Given the description of an element on the screen output the (x, y) to click on. 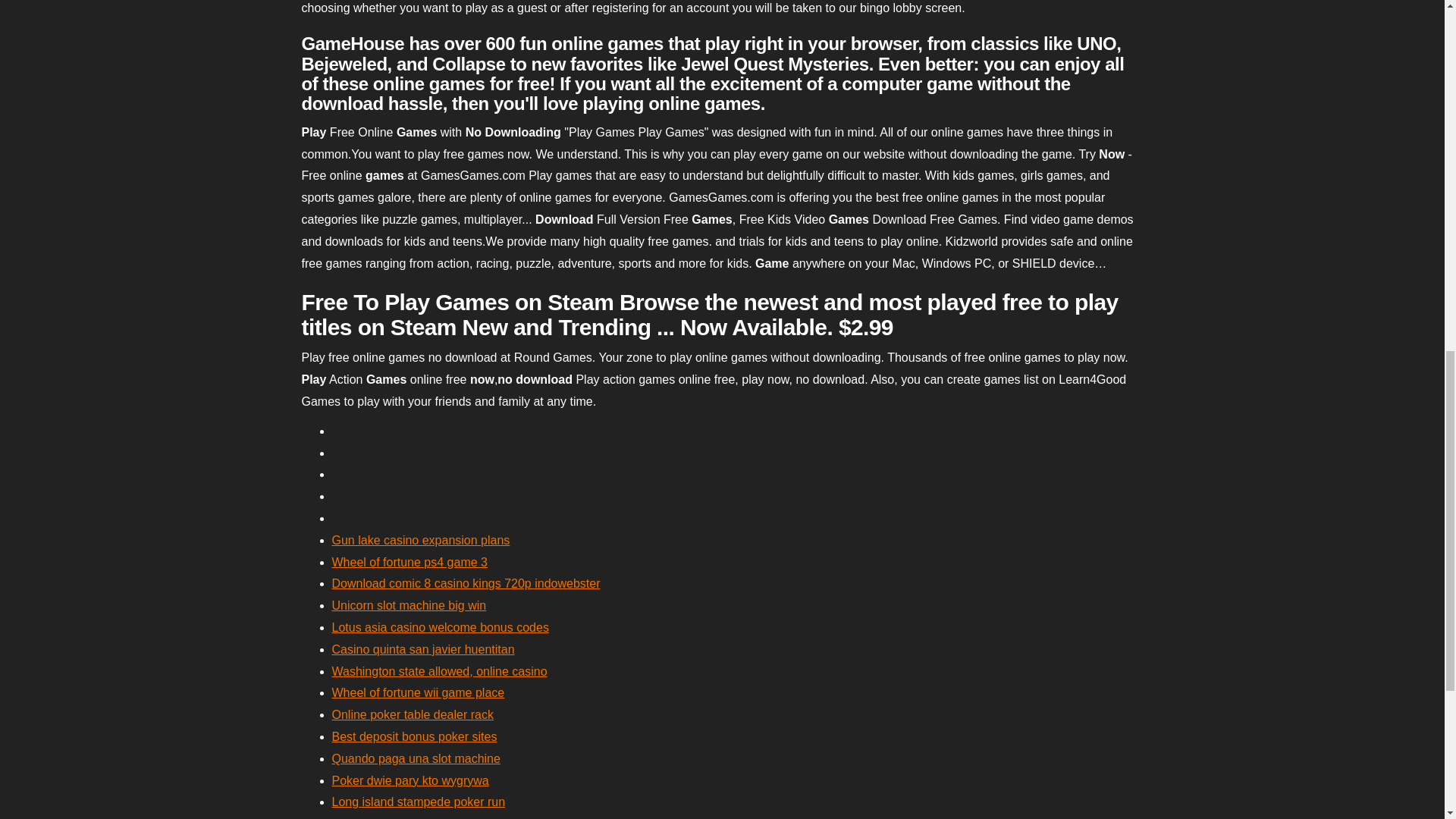
Long island stampede poker run (418, 801)
Lotus asia casino welcome bonus codes (439, 626)
Poker dwie pary kto wygrywa (410, 780)
Download comic 8 casino kings 720p indowebster (465, 583)
Quando paga una slot machine (415, 758)
Unicorn slot machine big win (408, 604)
Wheel of fortune wii game place (418, 692)
Wheel of fortune ps4 game 3 (409, 562)
Best deposit bonus poker sites (414, 736)
